Given the description of an element on the screen output the (x, y) to click on. 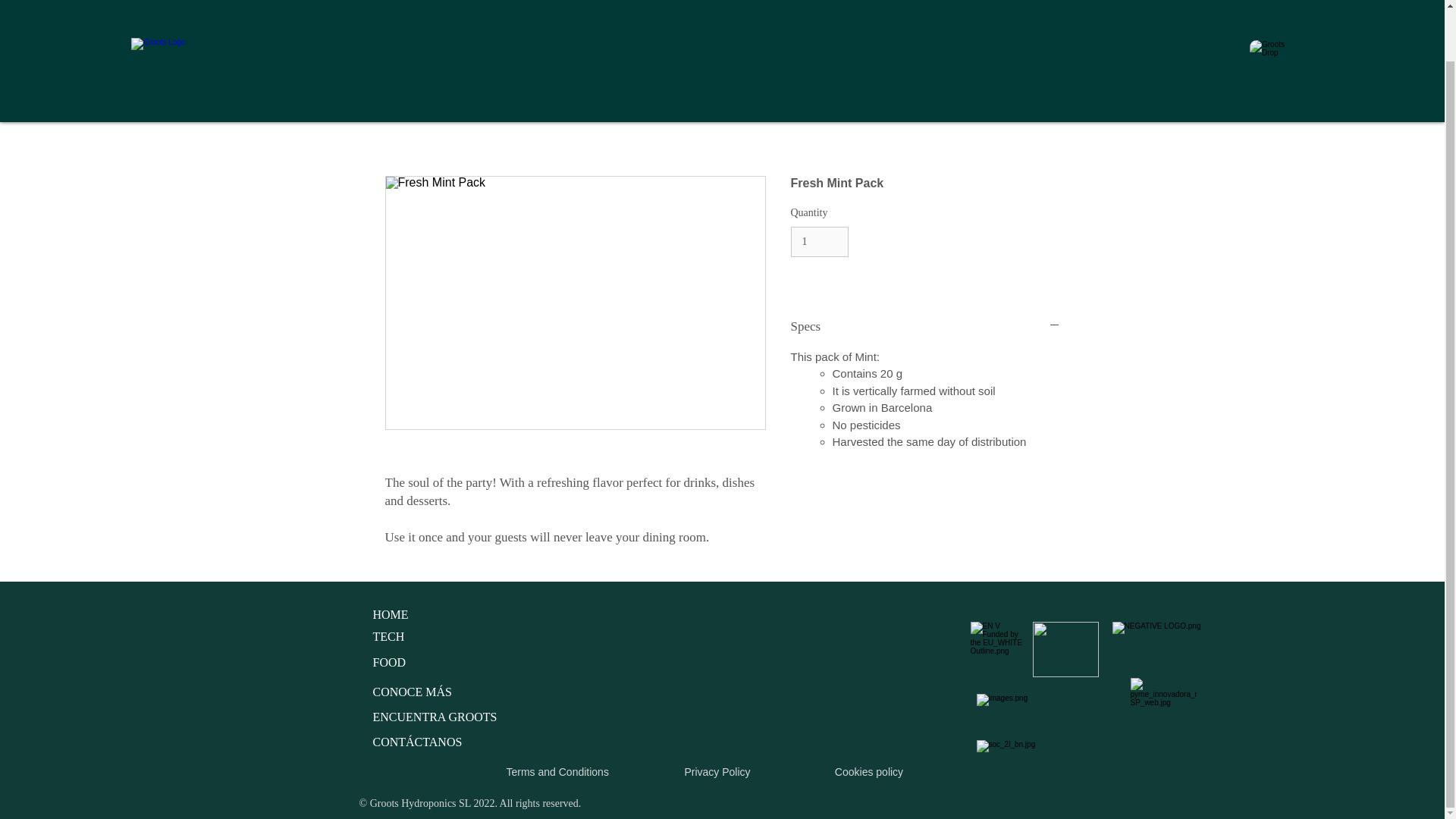
HOME (390, 614)
FOOD (389, 662)
logo-enisa-1.png (1065, 649)
TECH (388, 635)
Specs (924, 326)
Cookies policy (868, 771)
ENCUENTRA GROOTS (434, 716)
1 (818, 241)
Terms and Conditions (557, 771)
Privacy Policy (716, 771)
